Given the description of an element on the screen output the (x, y) to click on. 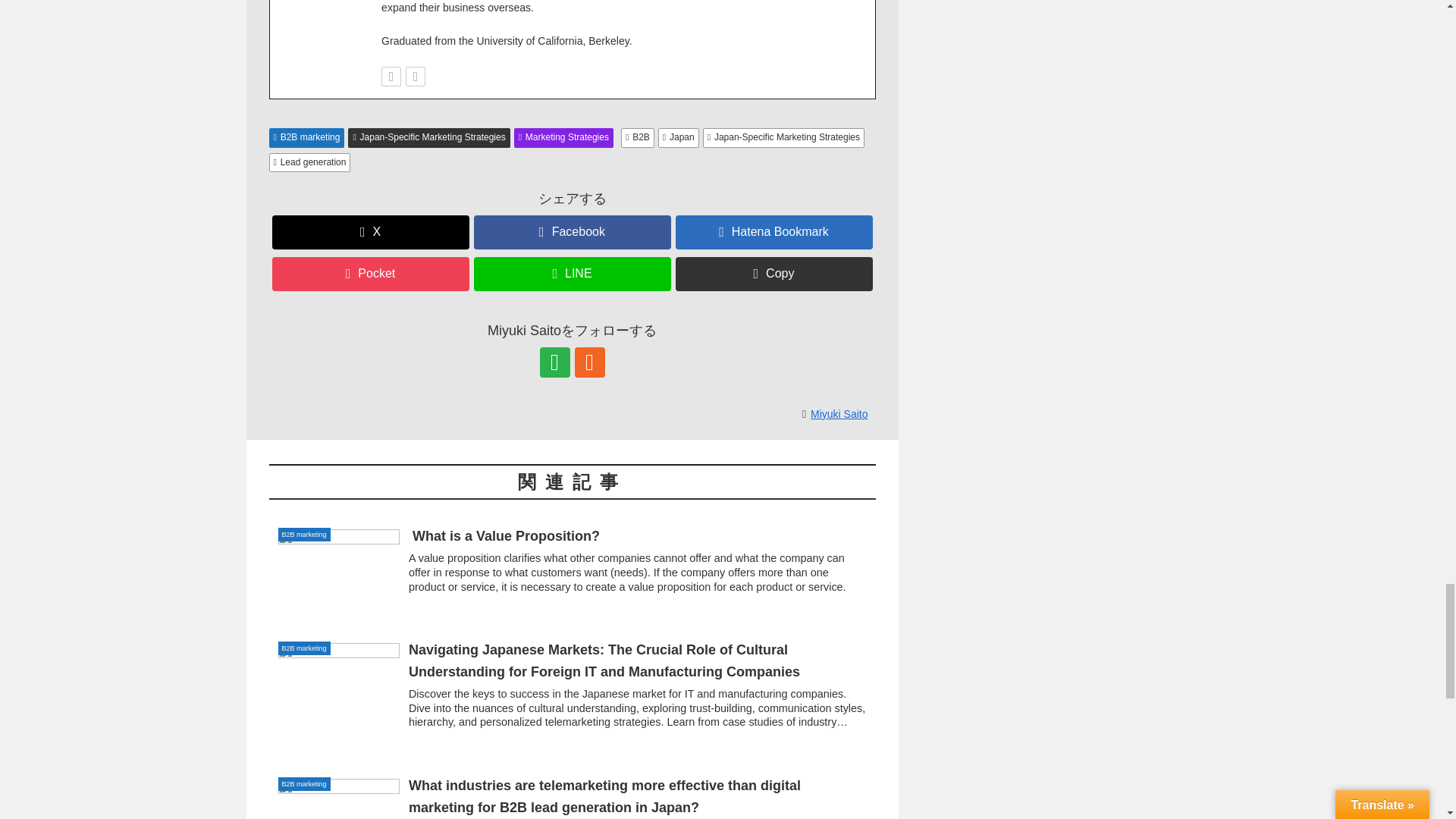
Pocket (369, 274)
Save to Pocket (369, 274)
Share on LINE (571, 274)
LINE (571, 274)
Marketing Strategies (562, 137)
Facebook (571, 232)
Japan-Specific Marketing Strategies (783, 137)
Japan-Specific Marketing Strategies (428, 137)
Copy the title and URL (773, 274)
Copy (773, 274)
Subscribe updates by RSS (590, 362)
Subscribe to feedly (391, 76)
Hatena Bookmark (773, 232)
Subscribe updates by RSS (415, 76)
